Given the description of an element on the screen output the (x, y) to click on. 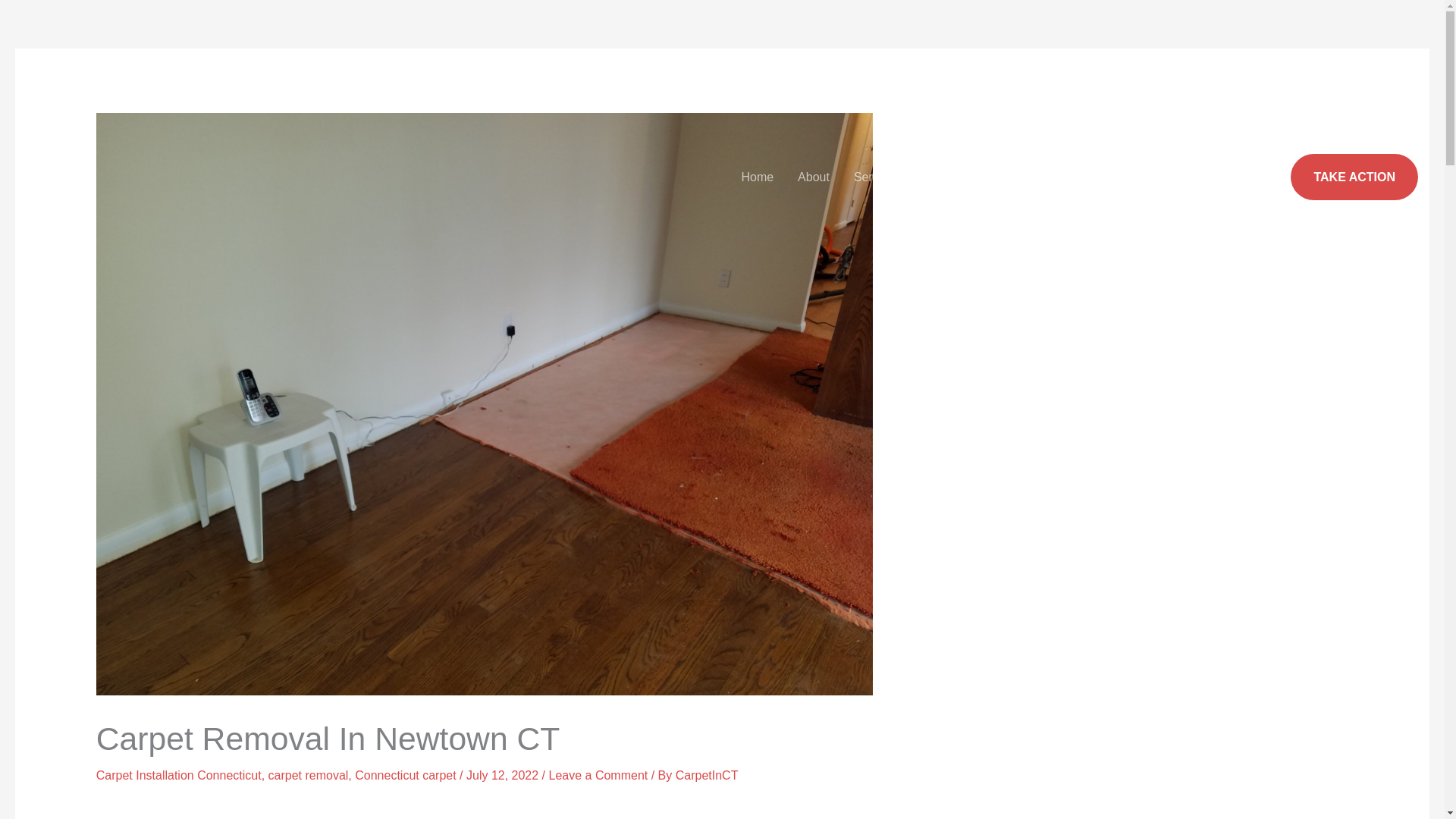
Luxury Vinyl Planks (1210, 176)
Services (882, 176)
About (813, 176)
Home (757, 176)
Contact (955, 176)
Gallery (1019, 176)
View all posts by CarpetInCT (706, 775)
TAKE ACTION (1354, 176)
Carpet Sales (1099, 176)
